Given the description of an element on the screen output the (x, y) to click on. 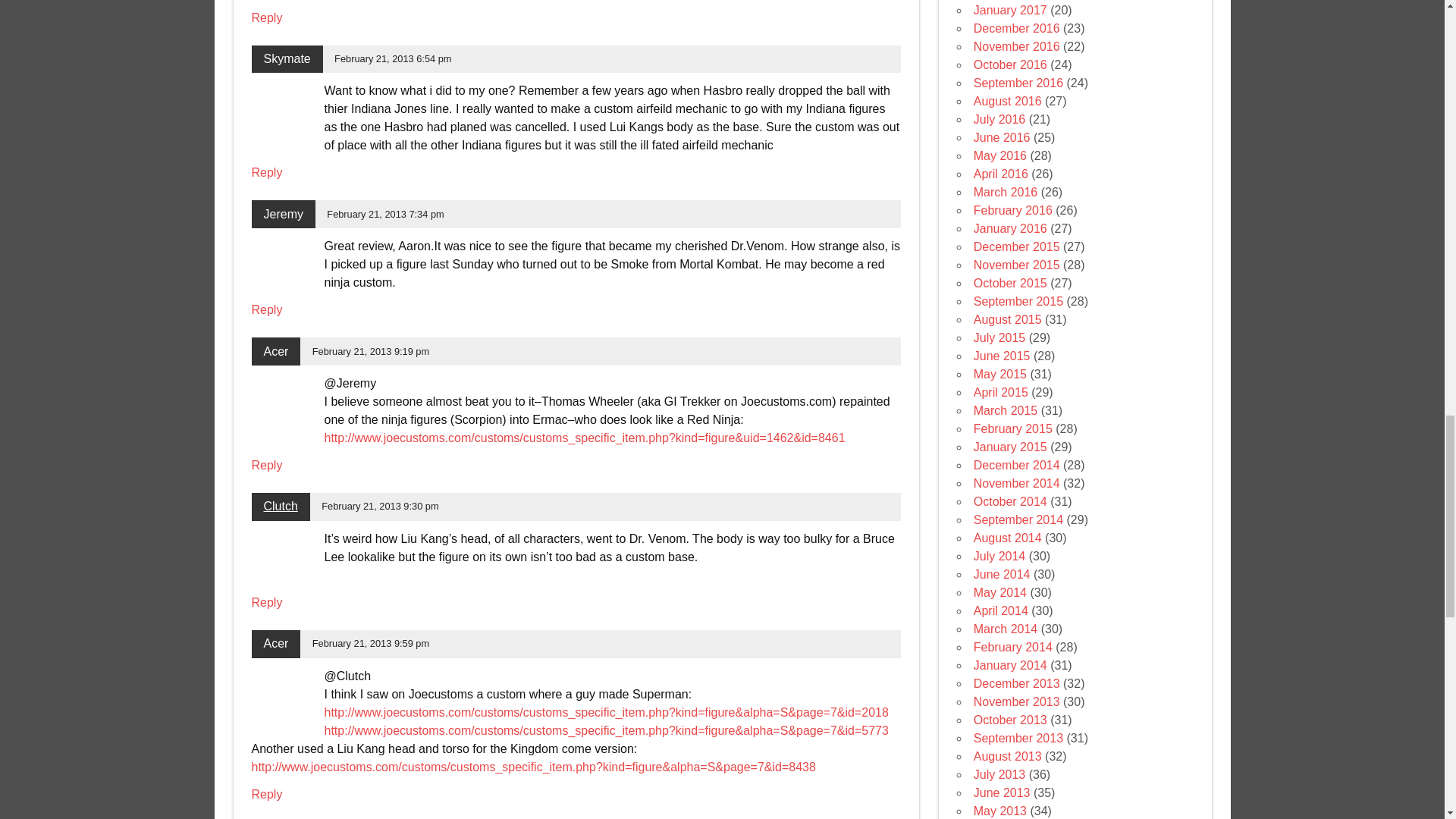
February 21, 2013 9:30 pm (379, 505)
Reply (266, 172)
February 21, 2013 6:54 pm (392, 58)
February 21, 2013 7:34 pm (385, 214)
Clutch (280, 505)
Reply (266, 309)
Reply (266, 602)
February 21, 2013 9:19 pm (371, 351)
Reply (266, 793)
February 21, 2013 9:59 pm (371, 643)
